Given the description of an element on the screen output the (x, y) to click on. 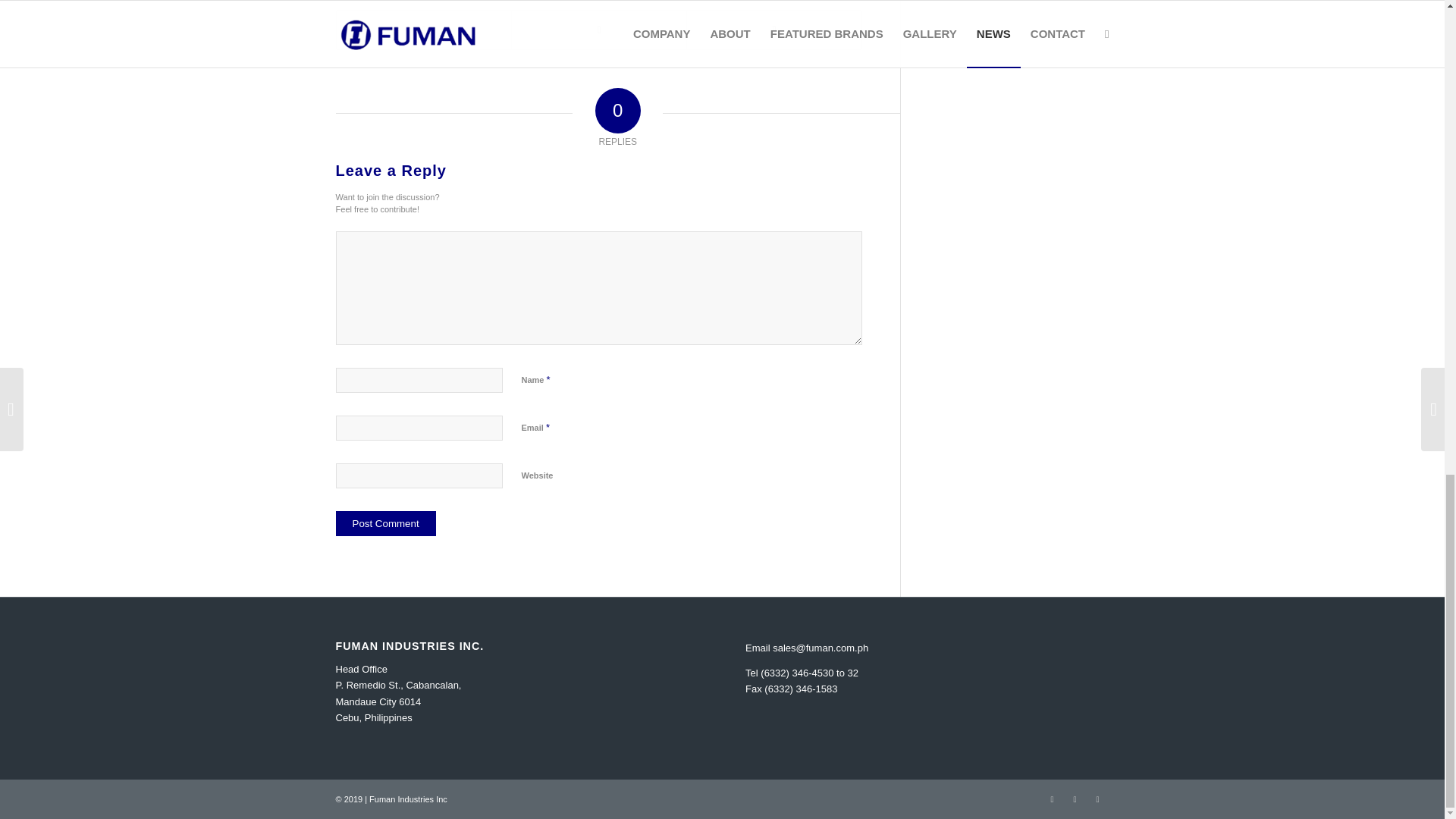
Facebook (1051, 798)
Youtube (1097, 798)
Instagram (1074, 798)
Post Comment (384, 523)
Post Comment (384, 523)
